Given the description of an element on the screen output the (x, y) to click on. 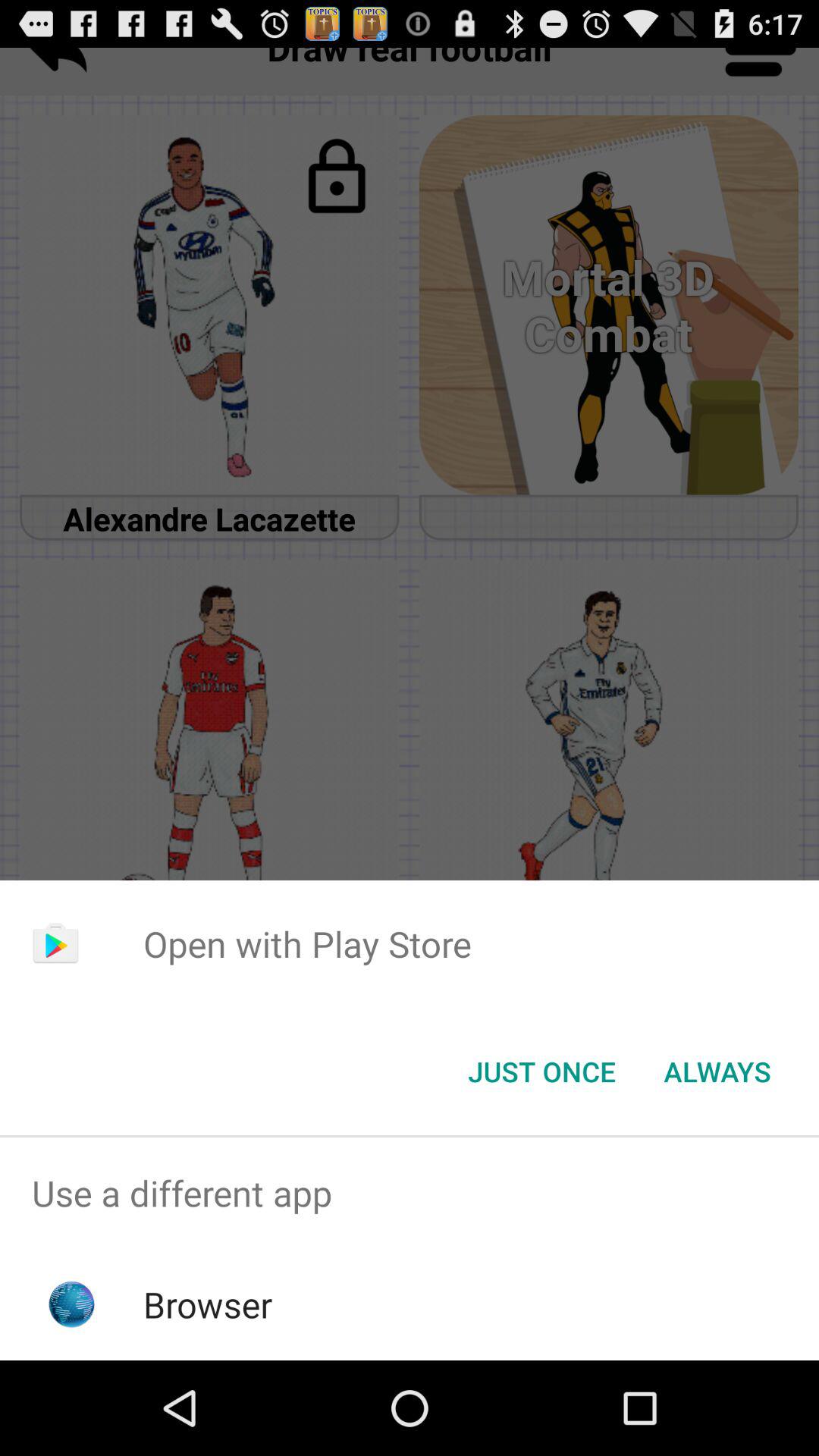
press just once button (541, 1071)
